Given the description of an element on the screen output the (x, y) to click on. 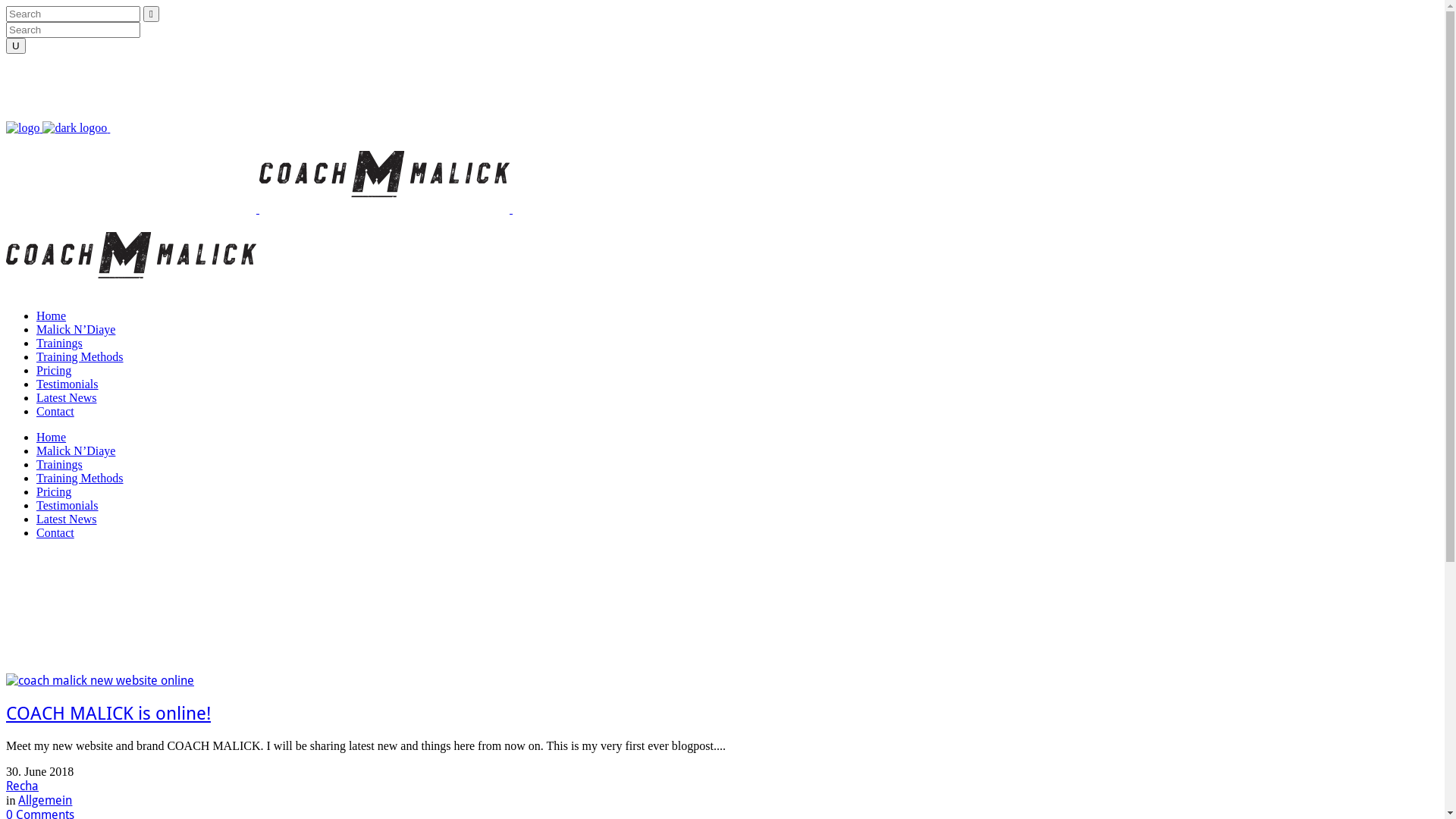
Training Methods Element type: text (79, 477)
Contact Element type: text (55, 410)
Contact Element type: text (55, 532)
Training Methods Element type: text (79, 356)
Home Element type: text (50, 436)
Testimonials Element type: text (67, 383)
Recha Element type: text (22, 785)
Pricing Element type: text (53, 491)
Latest News Element type: text (66, 397)
Allgemein Element type: text (45, 800)
COACH MALICK is online! Element type: hover (100, 680)
Latest News Element type: text (66, 518)
COACH MALICK is online! Element type: text (108, 713)
Testimonials Element type: text (67, 504)
Home Element type: text (50, 315)
Trainings Element type: text (59, 342)
Trainings Element type: text (59, 464)
Pricing Element type: text (53, 370)
U Element type: text (15, 45)
